Given the description of an element on the screen output the (x, y) to click on. 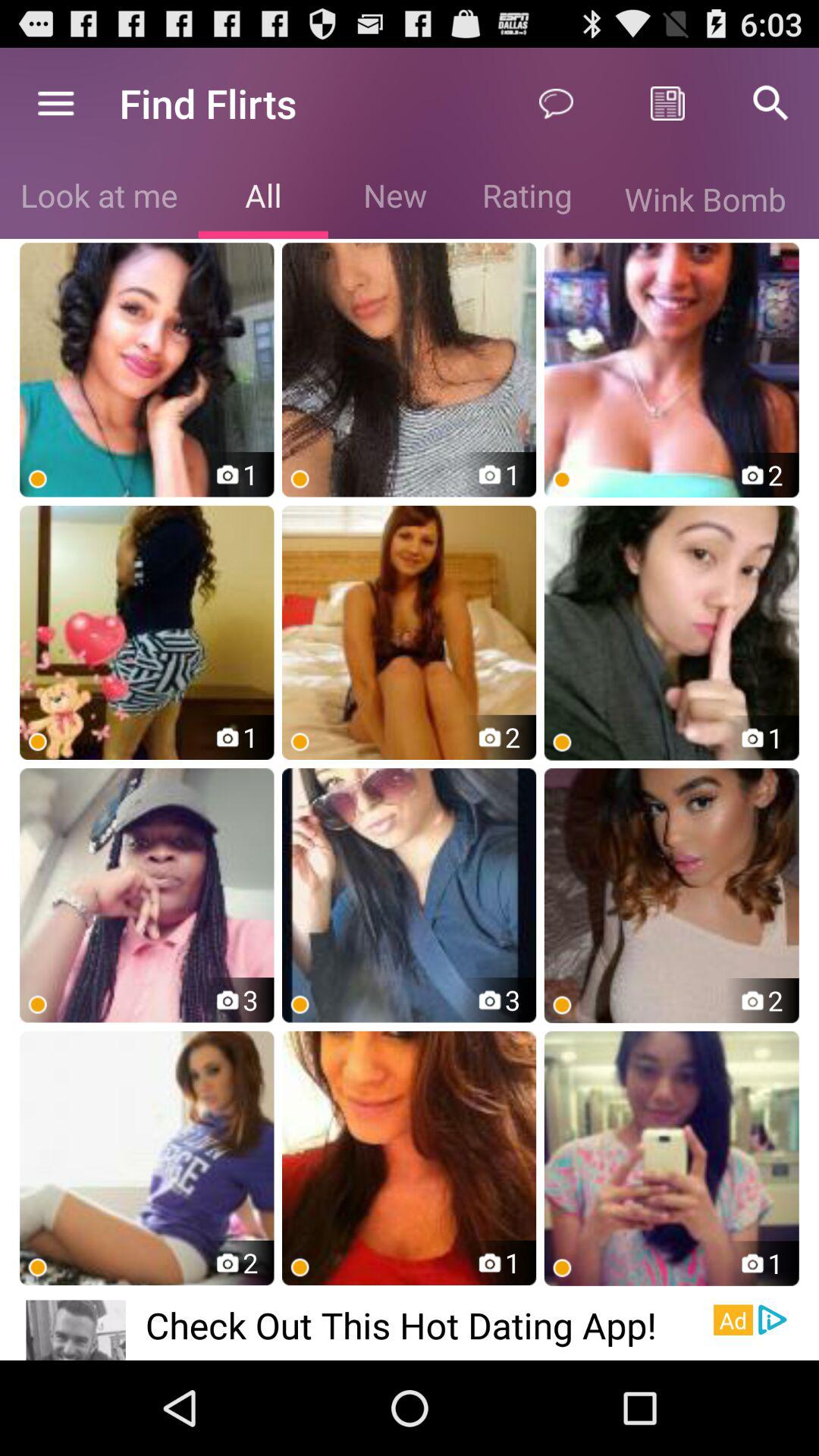
click the item to the left of rating (395, 198)
